Given the description of an element on the screen output the (x, y) to click on. 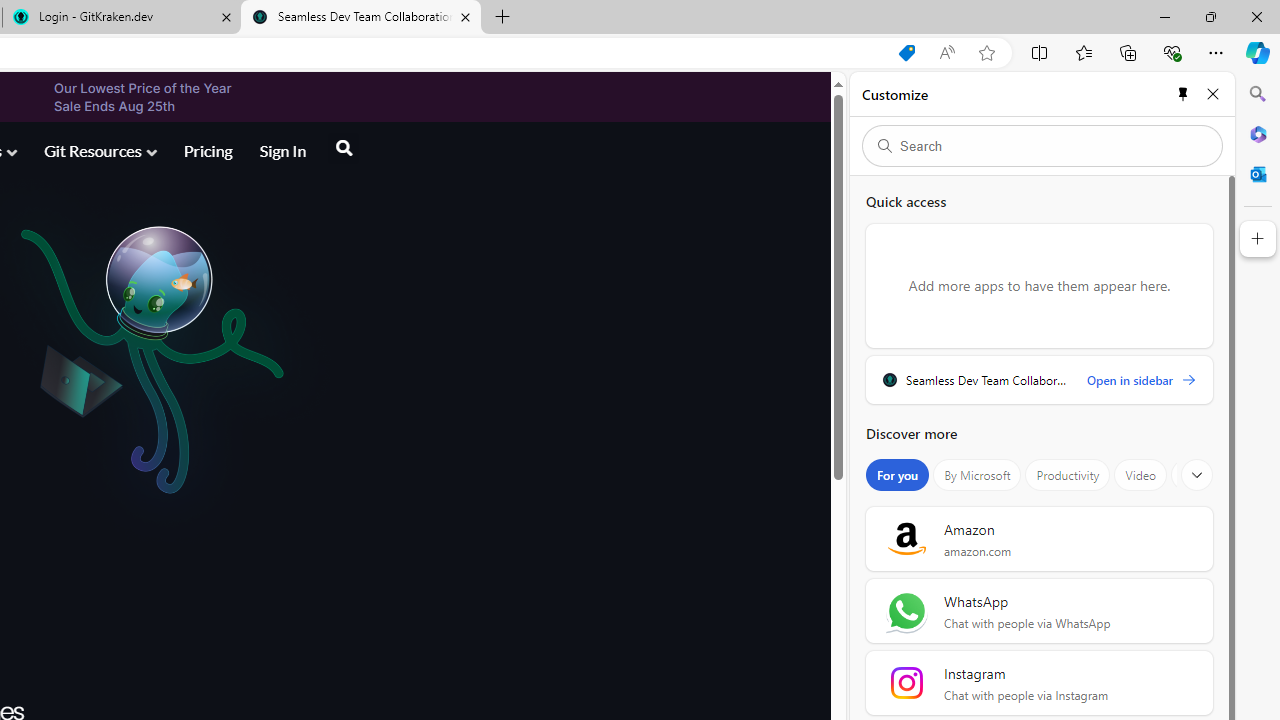
Video (1140, 475)
By Microsoft (977, 475)
Productivity (1068, 475)
